Given the description of an element on the screen output the (x, y) to click on. 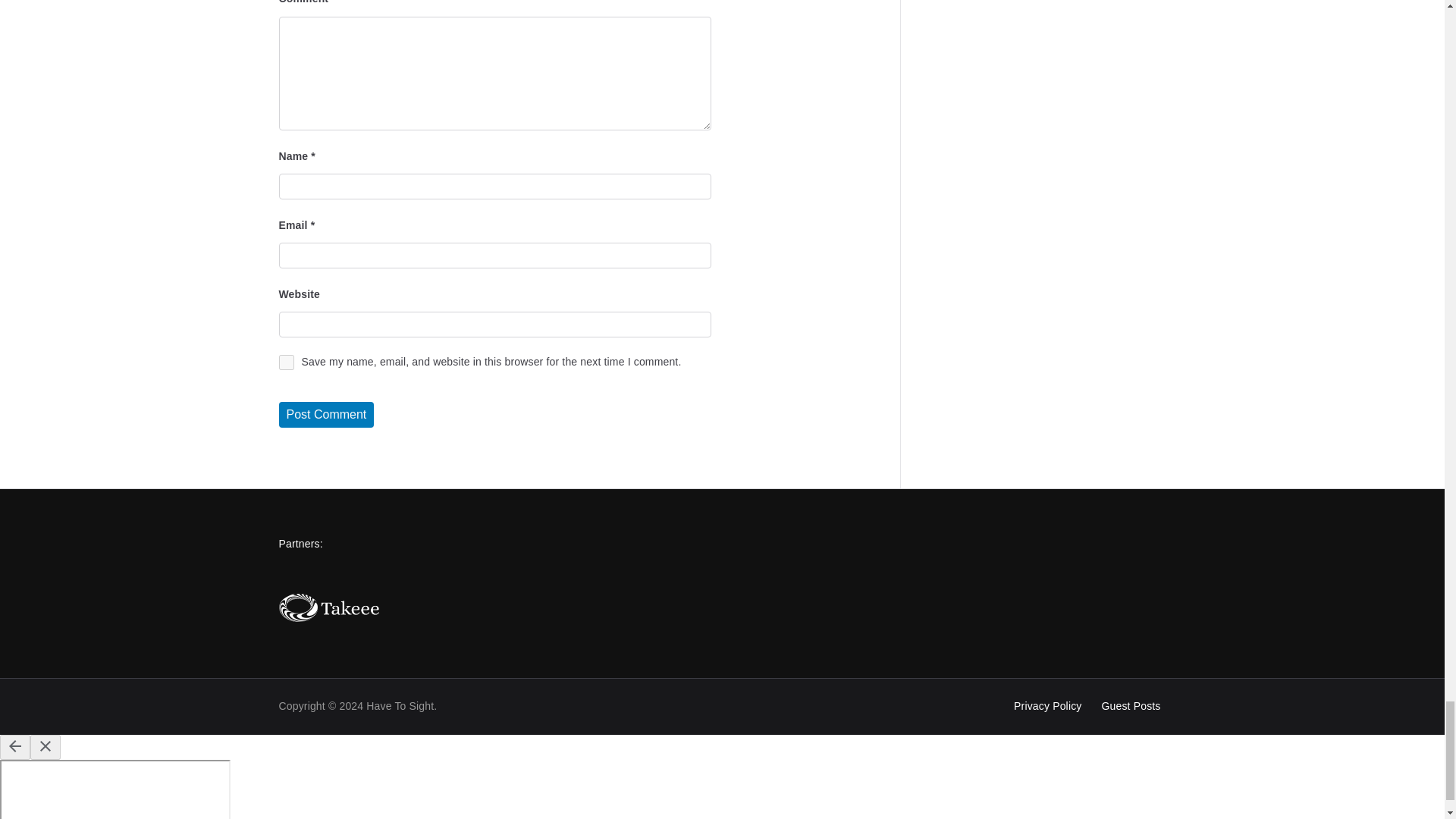
yes (286, 362)
Post Comment (326, 414)
